Given the description of an element on the screen output the (x, y) to click on. 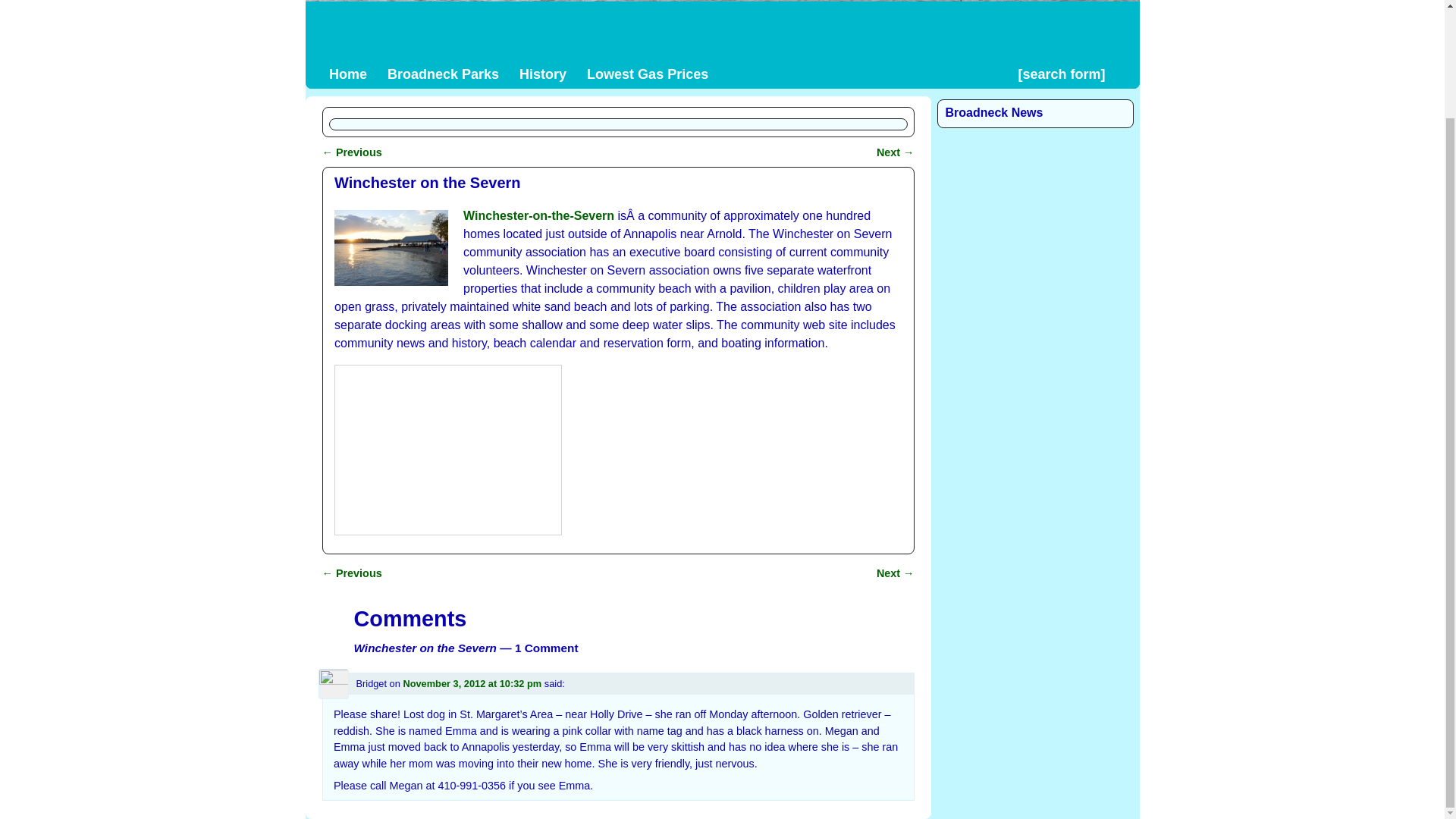
Broadneck Parks (443, 73)
November 3, 2012 at 10:32 pm (472, 683)
Winchester on the Severn (391, 247)
Lowest Gas Prices (647, 73)
Home (347, 73)
History (542, 73)
Winchester-on-the-Severn (538, 215)
